Given the description of an element on the screen output the (x, y) to click on. 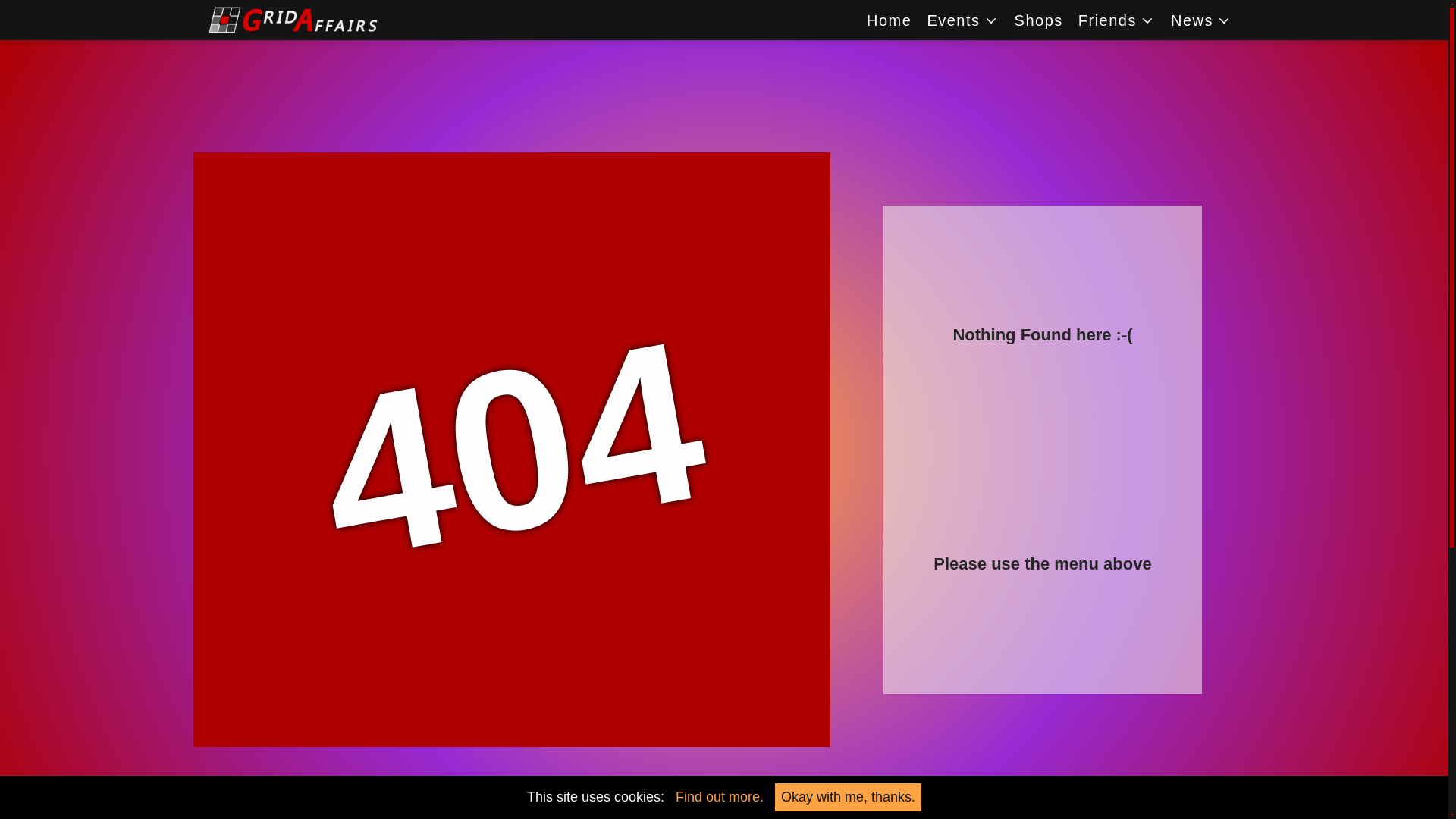
Shops (1038, 20)
Find out more. (718, 797)
Home (888, 20)
Friends (1116, 20)
News (1201, 20)
Okay with me, thanks. (847, 796)
Events (962, 20)
